Given the description of an element on the screen output the (x, y) to click on. 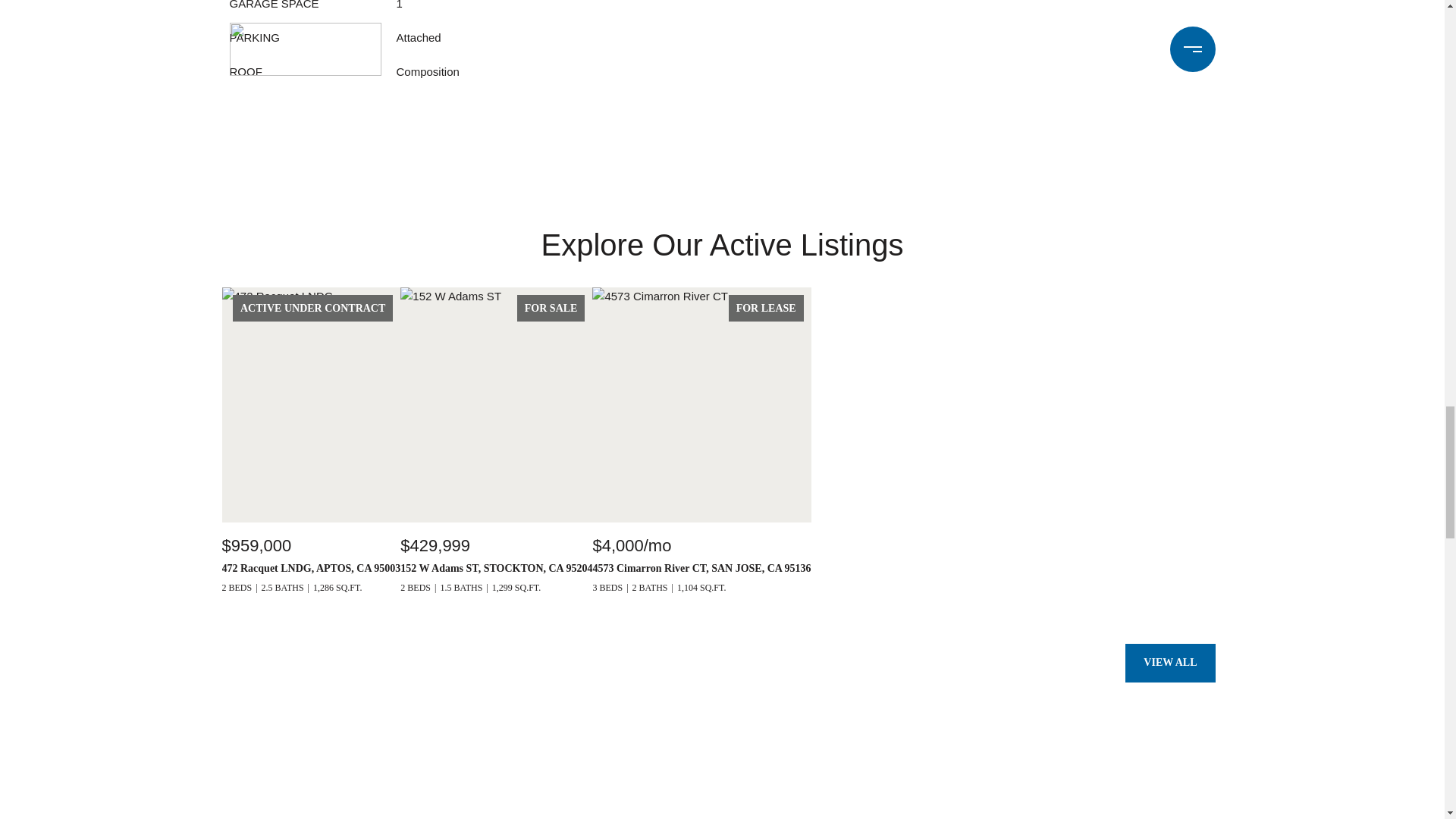
VIEW ALL (1169, 662)
